Given the description of an element on the screen output the (x, y) to click on. 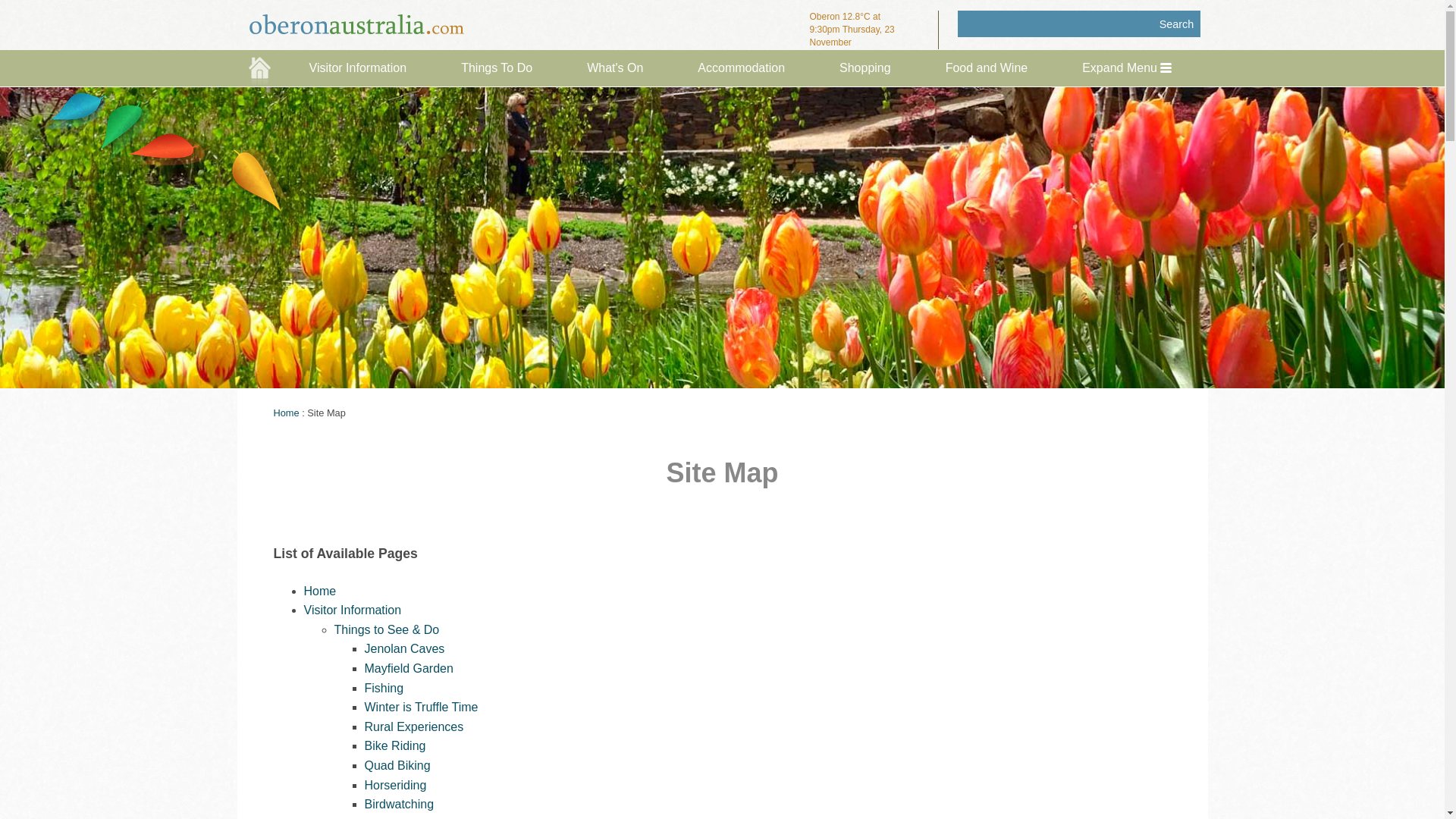
What's On Element type: text (614, 64)
Winter is Truffle Time Element type: text (420, 706)
Horseriding Element type: text (395, 784)
Mayfield Garden Element type: text (408, 668)
Accommodation Element type: text (741, 64)
Things To Do Element type: text (496, 64)
Quad Biking Element type: text (396, 765)
Jenolan Caves Element type: text (404, 648)
Shopping Element type: text (864, 64)
Search Element type: text (1176, 23)
Things to See & Do Element type: text (386, 629)
Rural Experiences Element type: text (413, 726)
Food and Wine Element type: text (986, 64)
Visitor Information Element type: text (352, 609)
Bike Riding Element type: text (394, 745)
Home Element type: text (319, 590)
Visitor Information Element type: text (357, 64)
Home Element type: text (285, 412)
Birdwatching Element type: text (398, 803)
Fishing Element type: text (383, 687)
